Given the description of an element on the screen output the (x, y) to click on. 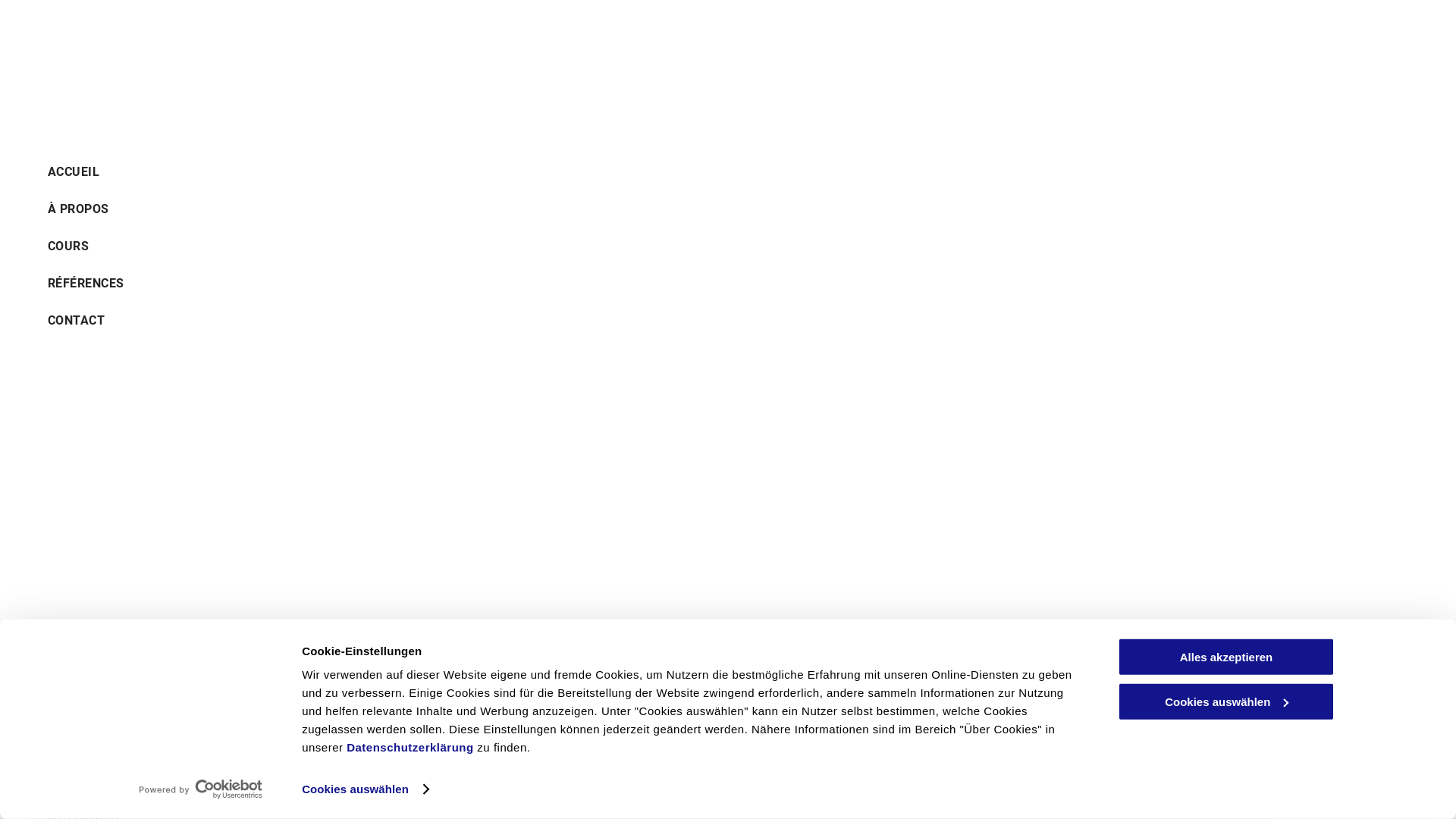
COURS Element type: text (393, 242)
ACCUEIL Element type: text (393, 167)
Alles akzeptieren Element type: text (1225, 656)
CONTACT Element type: text (393, 316)
